Given the description of an element on the screen output the (x, y) to click on. 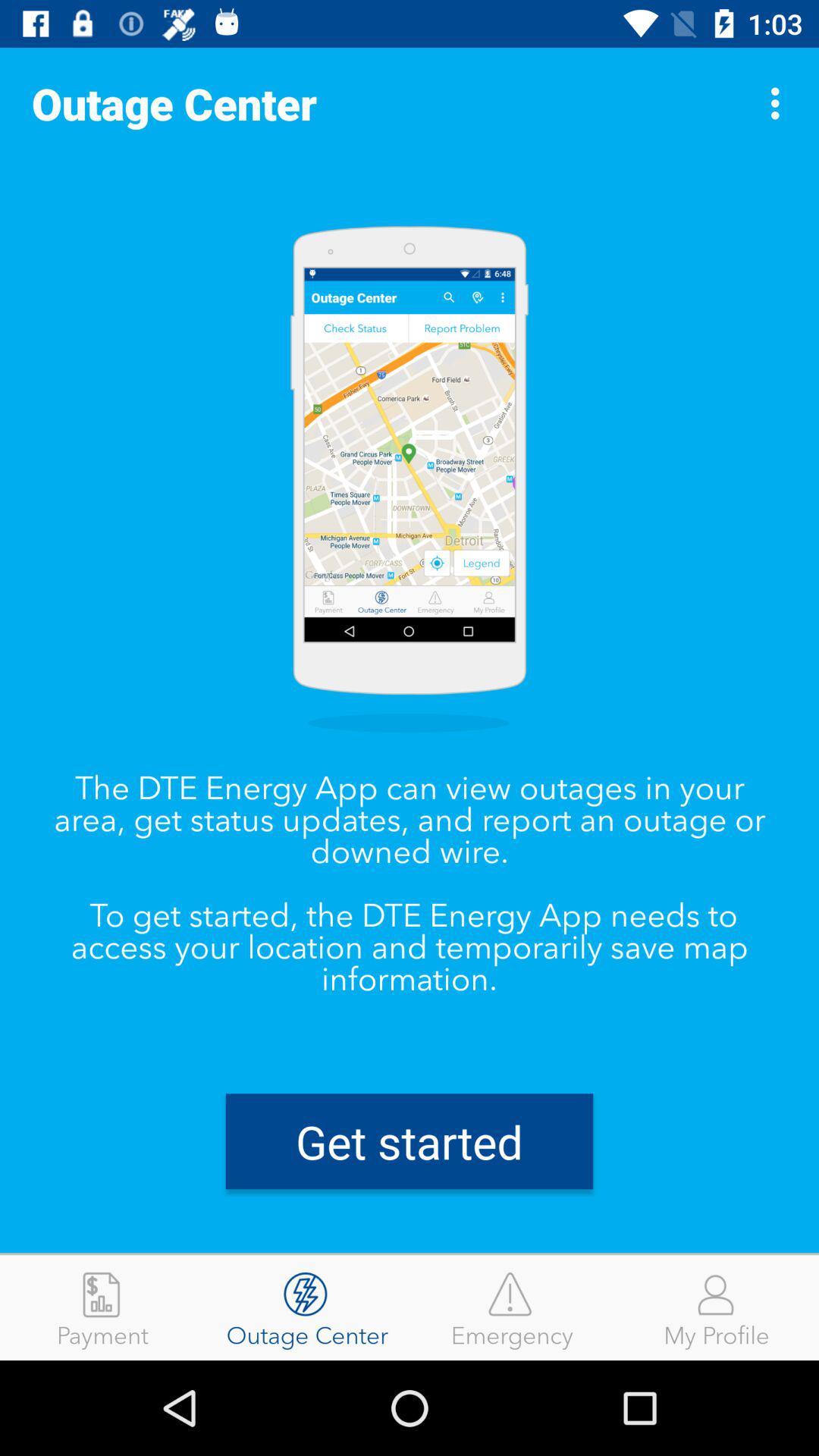
jump to the my profile icon (716, 1307)
